Given the description of an element on the screen output the (x, y) to click on. 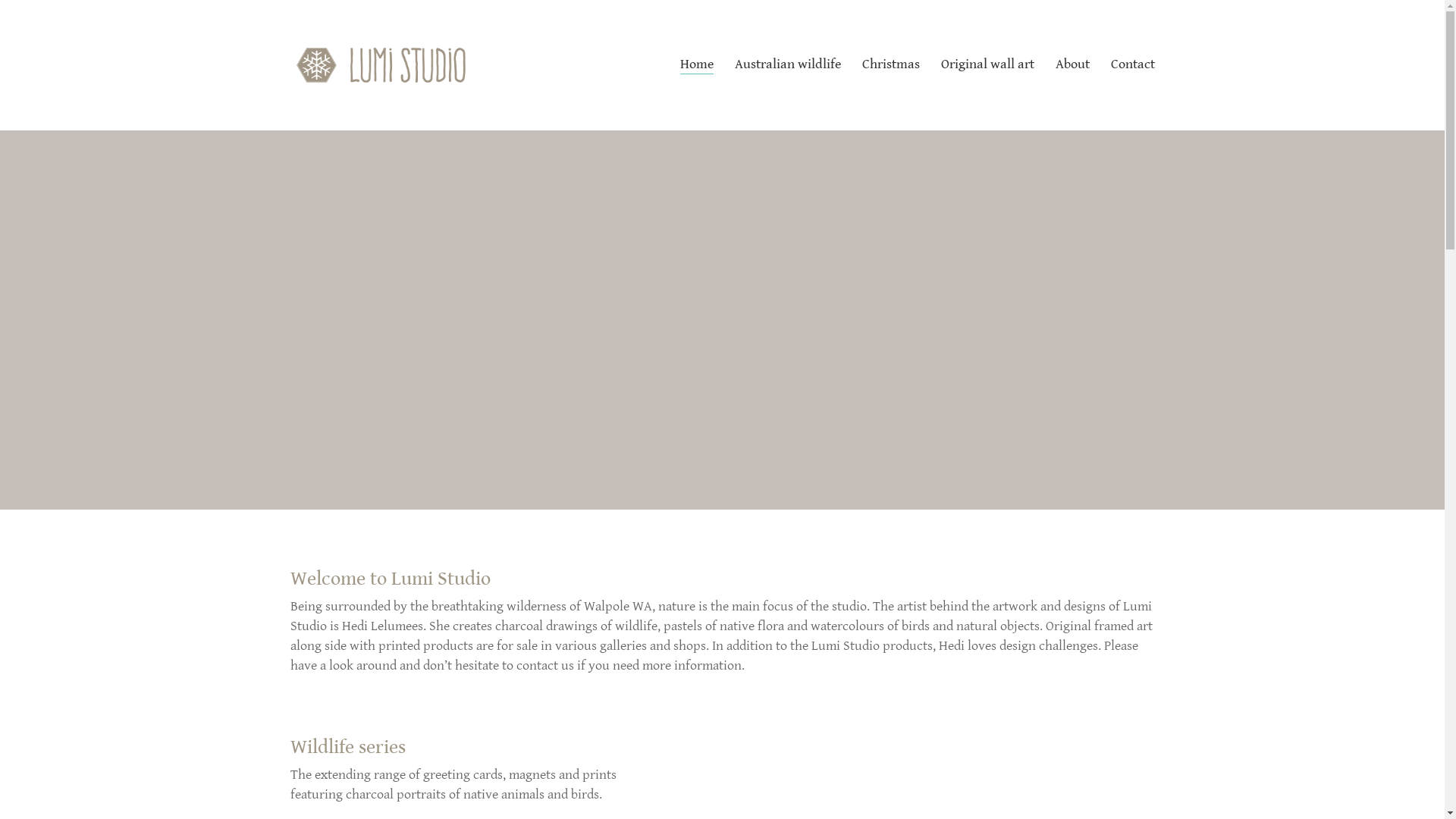
Christmas Element type: text (890, 64)
Contact Element type: text (1132, 64)
About Element type: text (1072, 64)
Home Element type: text (695, 64)
Original wall art Element type: text (986, 64)
Australian wildlife Element type: text (787, 64)
